Given the description of an element on the screen output the (x, y) to click on. 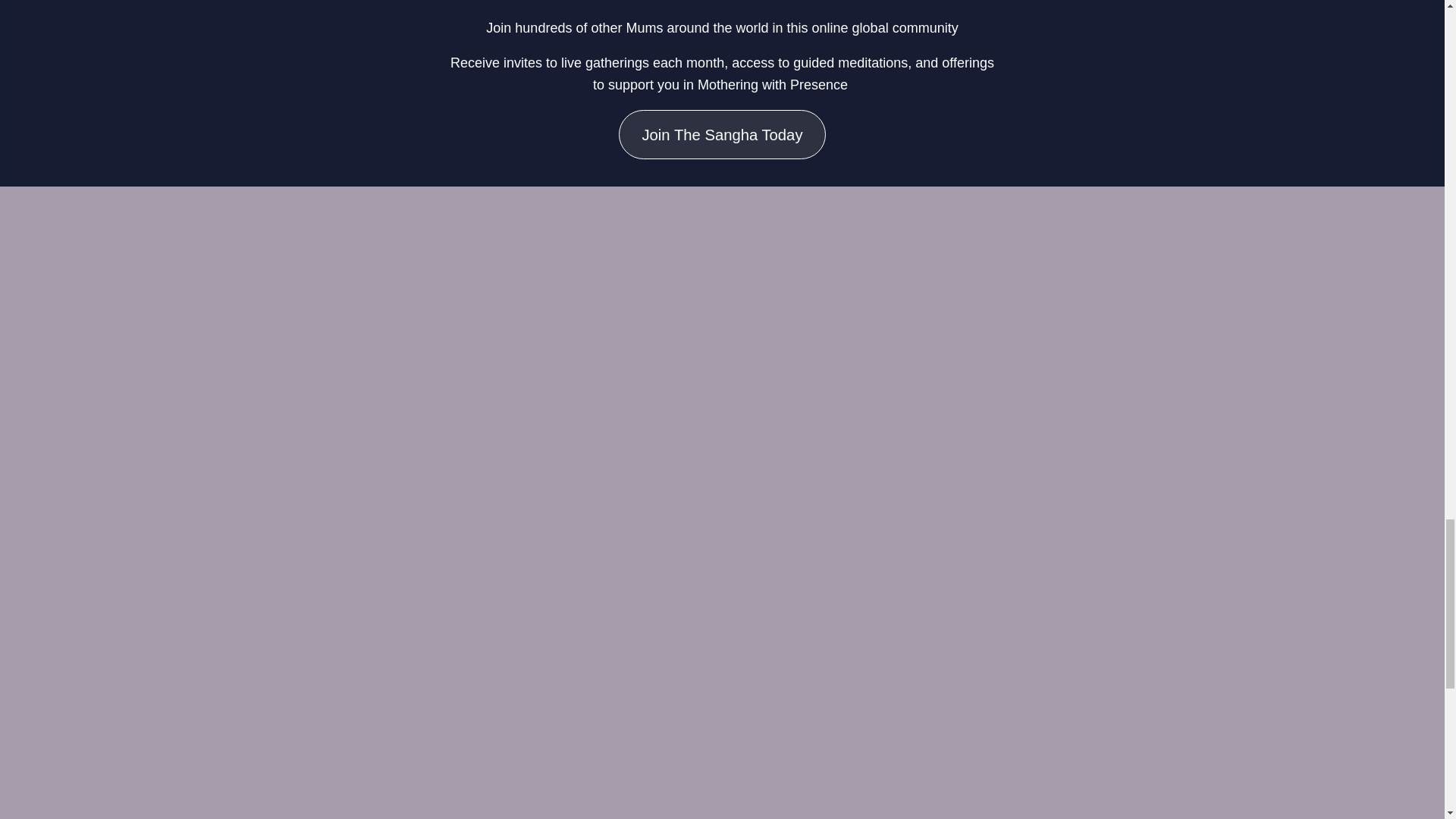
Join The Sangha Today (721, 133)
